Given the description of an element on the screen output the (x, y) to click on. 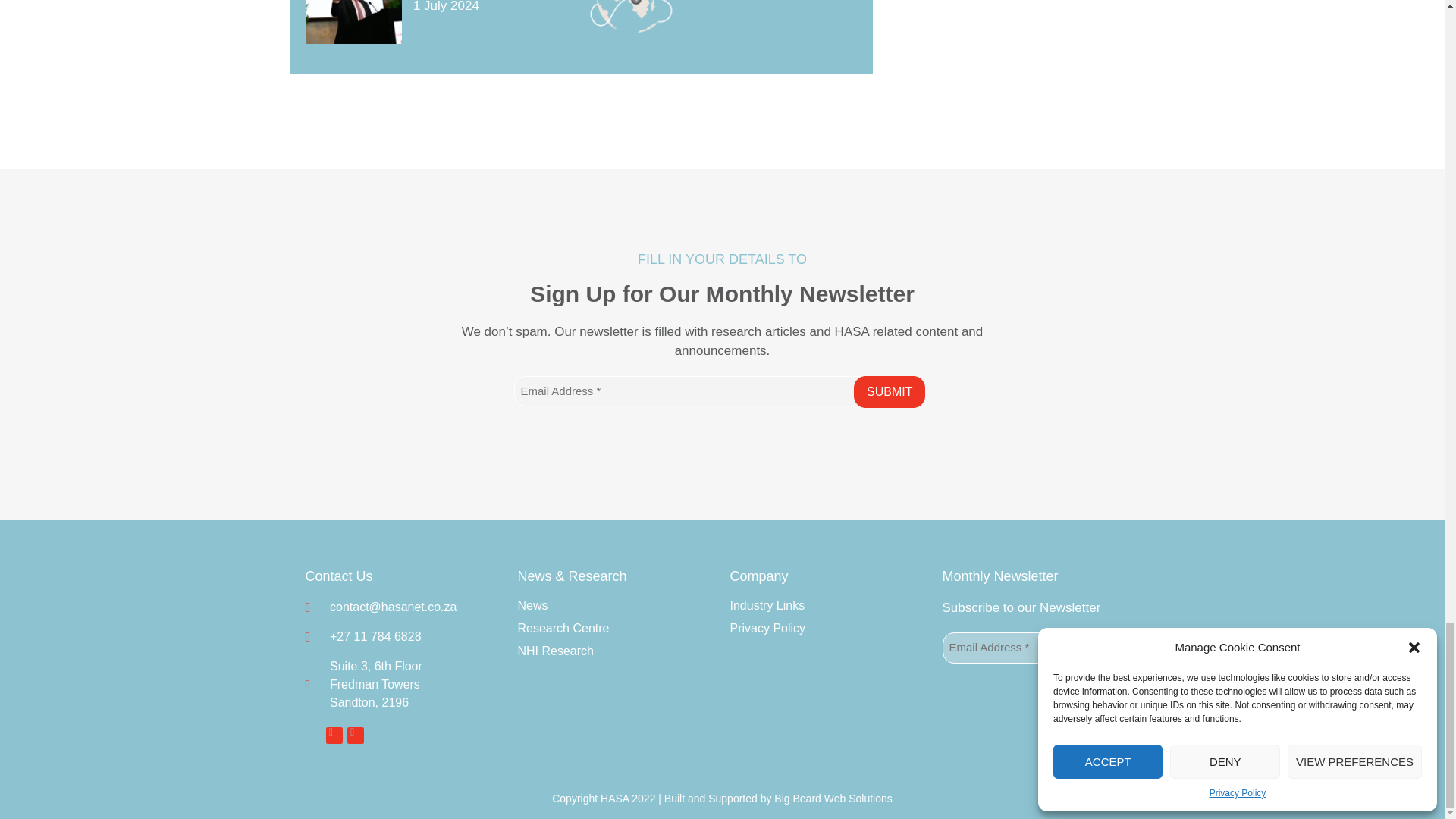
Submit (888, 391)
Submit (1095, 648)
